Given the description of an element on the screen output the (x, y) to click on. 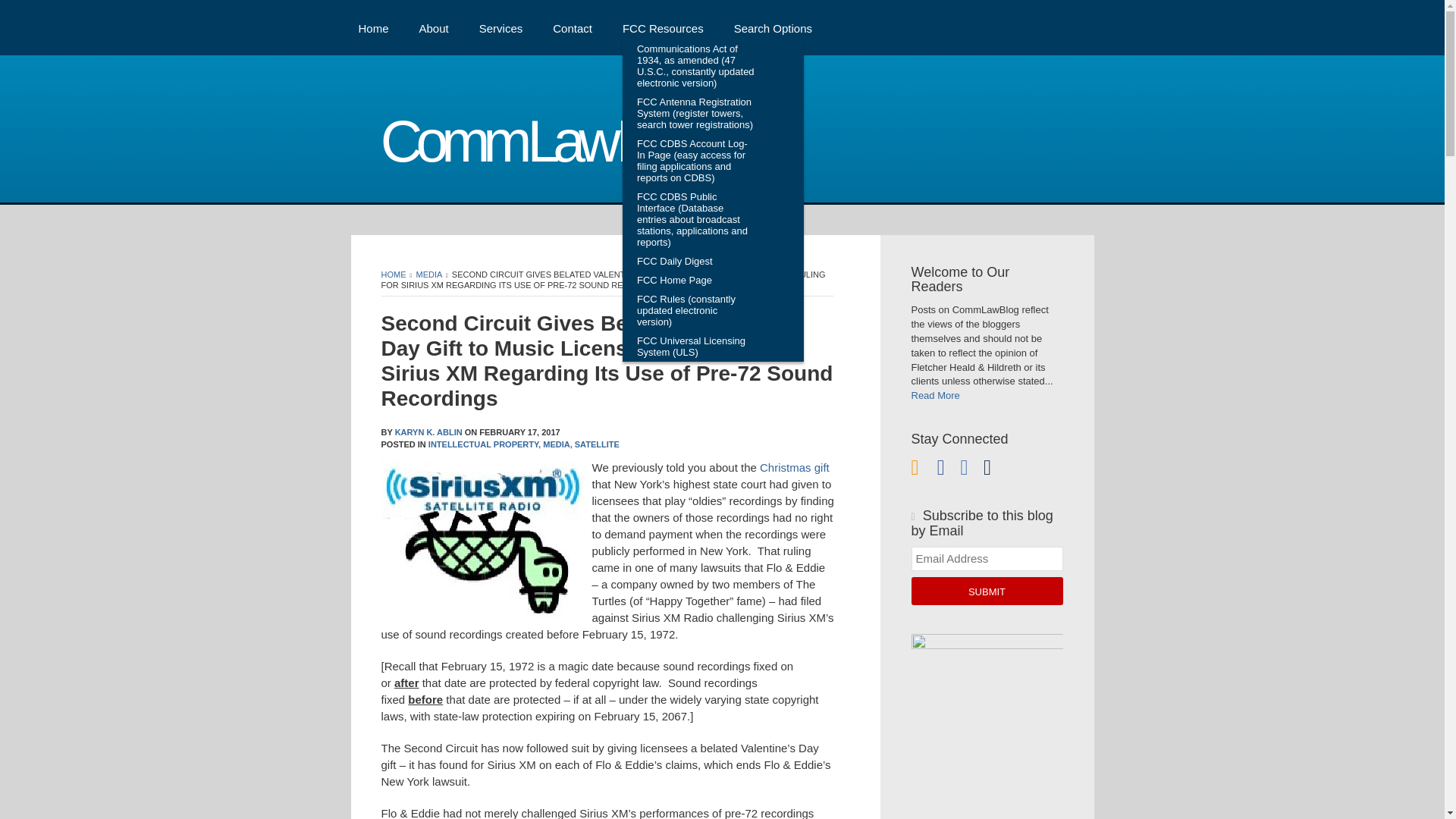
Search Options (772, 28)
SATELLITE (597, 443)
About (433, 28)
HOME (393, 274)
INTELLECTUAL PROPERTY, (484, 443)
MEDIA (429, 274)
FCC Home Page (695, 280)
Contact (572, 28)
KARYN K. ABLIN (428, 431)
FCC Resources (663, 28)
